Given the description of an element on the screen output the (x, y) to click on. 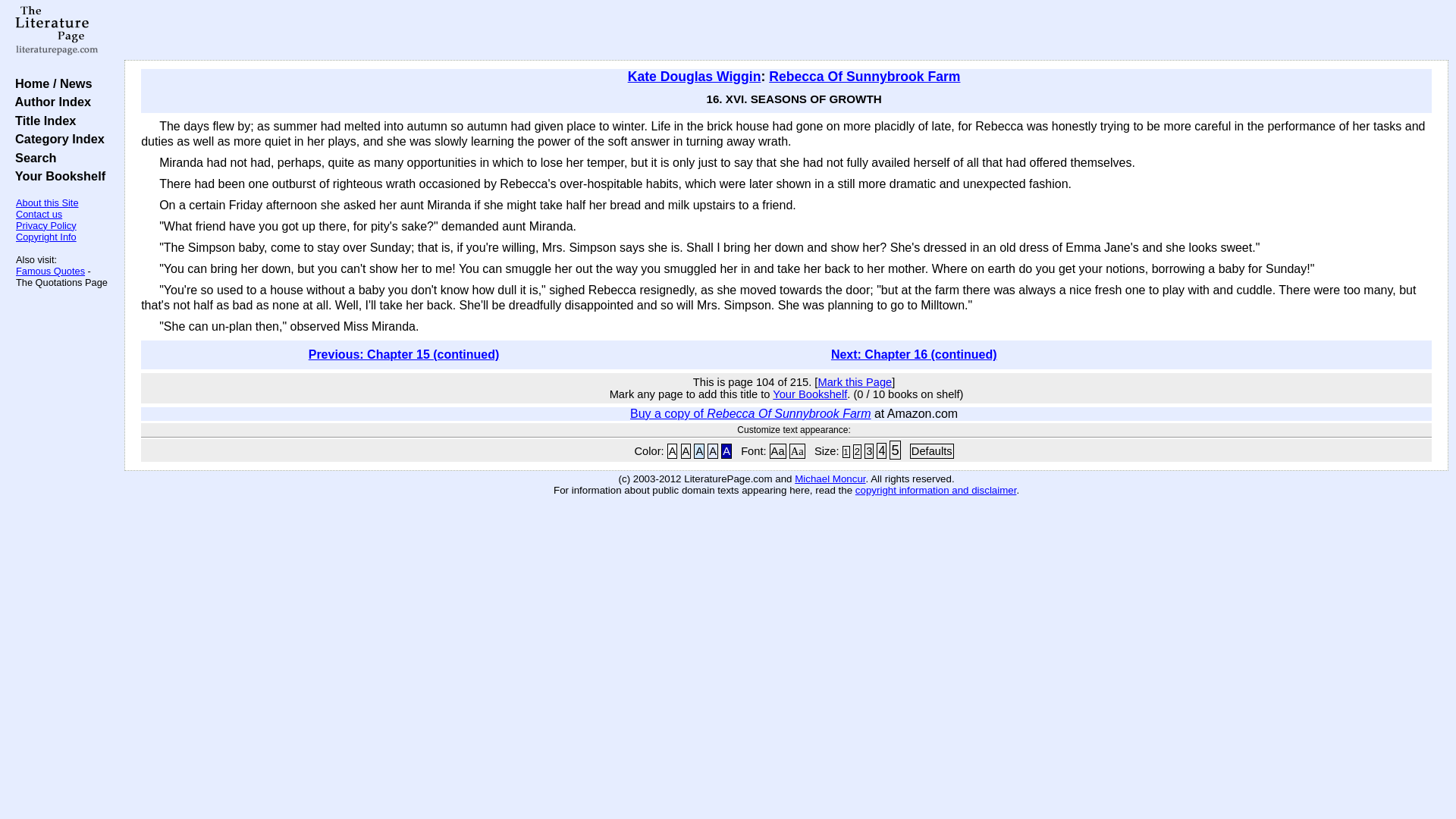
copyright information and disclaimer (936, 490)
  Category Index (56, 138)
  Your Bookshelf (56, 175)
Defaults (931, 450)
Aa (778, 450)
Kate Douglas Wiggin (694, 76)
Privacy Policy (46, 225)
Famous Quotes (50, 270)
Your Bookshelf (810, 394)
Rebecca Of Sunnybrook Farm (863, 76)
